Given the description of an element on the screen output the (x, y) to click on. 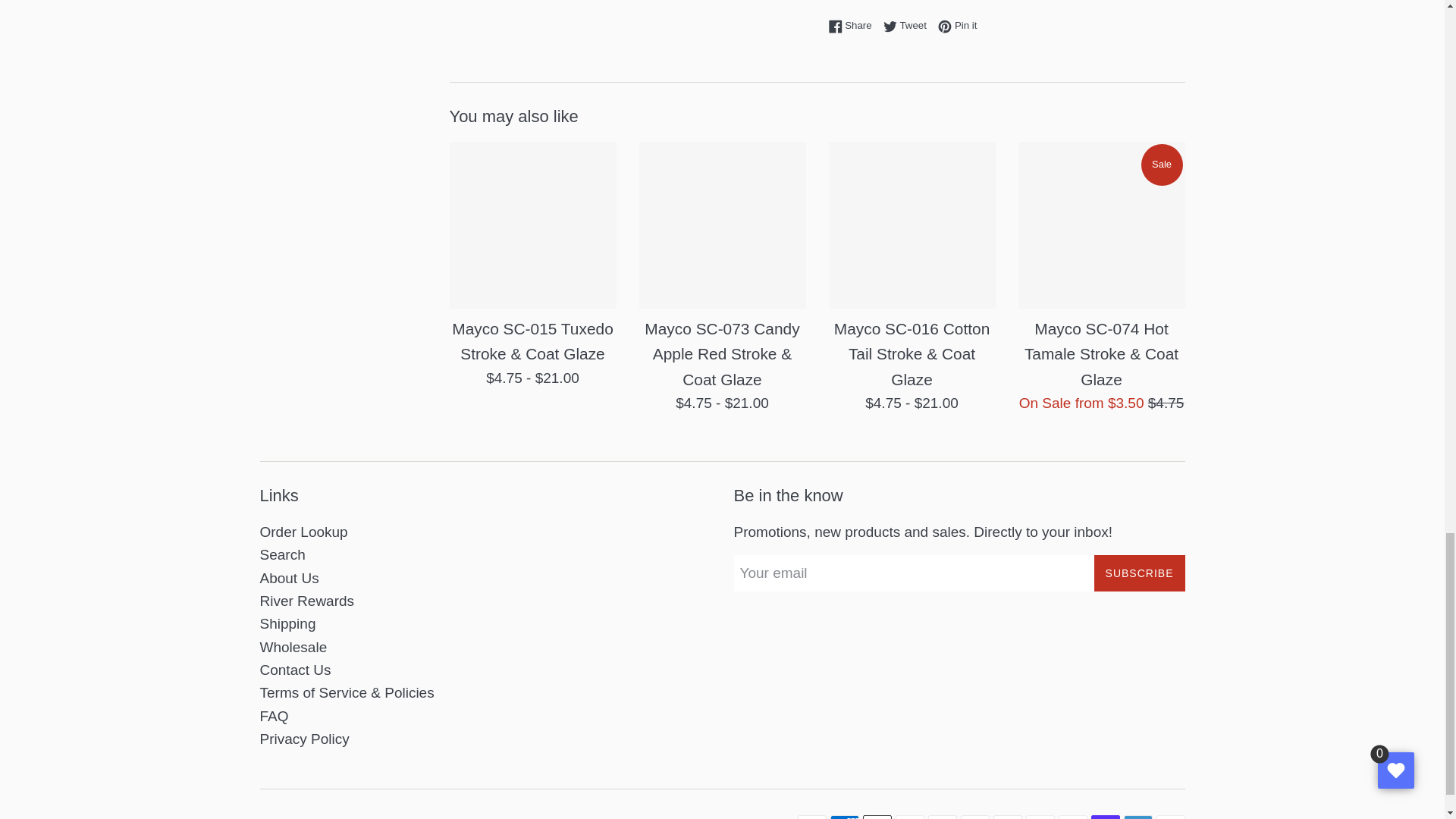
Share on Facebook (853, 25)
Pin on Pinterest (956, 25)
Visa (1170, 816)
Tweet on Twitter (908, 25)
American Express (844, 816)
Venmo (1138, 816)
Diners Club (909, 816)
Mastercard (1039, 816)
Discover (942, 816)
Google Pay (1007, 816)
Shop Pay (1104, 816)
Apple Pay (877, 816)
Meta Pay (973, 816)
PayPal (1072, 816)
Amazon (812, 816)
